Given the description of an element on the screen output the (x, y) to click on. 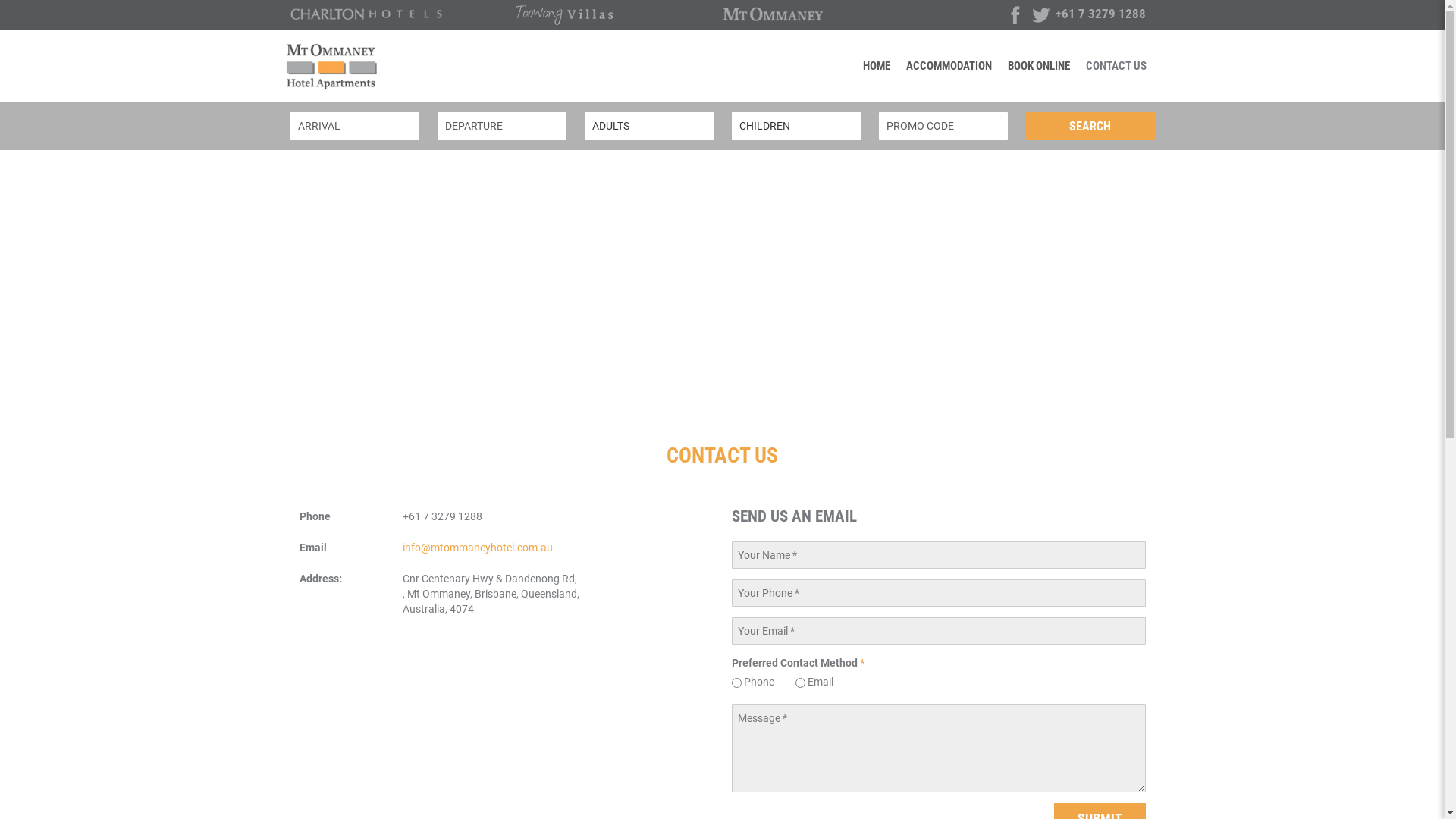
HOME Element type: text (876, 65)
+61 7 3279 1288 Element type: text (1100, 13)
Search Element type: text (1089, 125)
CONTACT US Element type: text (1115, 65)
ACCOMMODATION Element type: text (948, 65)
BOOK ONLINE Element type: text (1038, 65)
info@mtommaneyhotel.com.au Element type: text (477, 547)
